Given the description of an element on the screen output the (x, y) to click on. 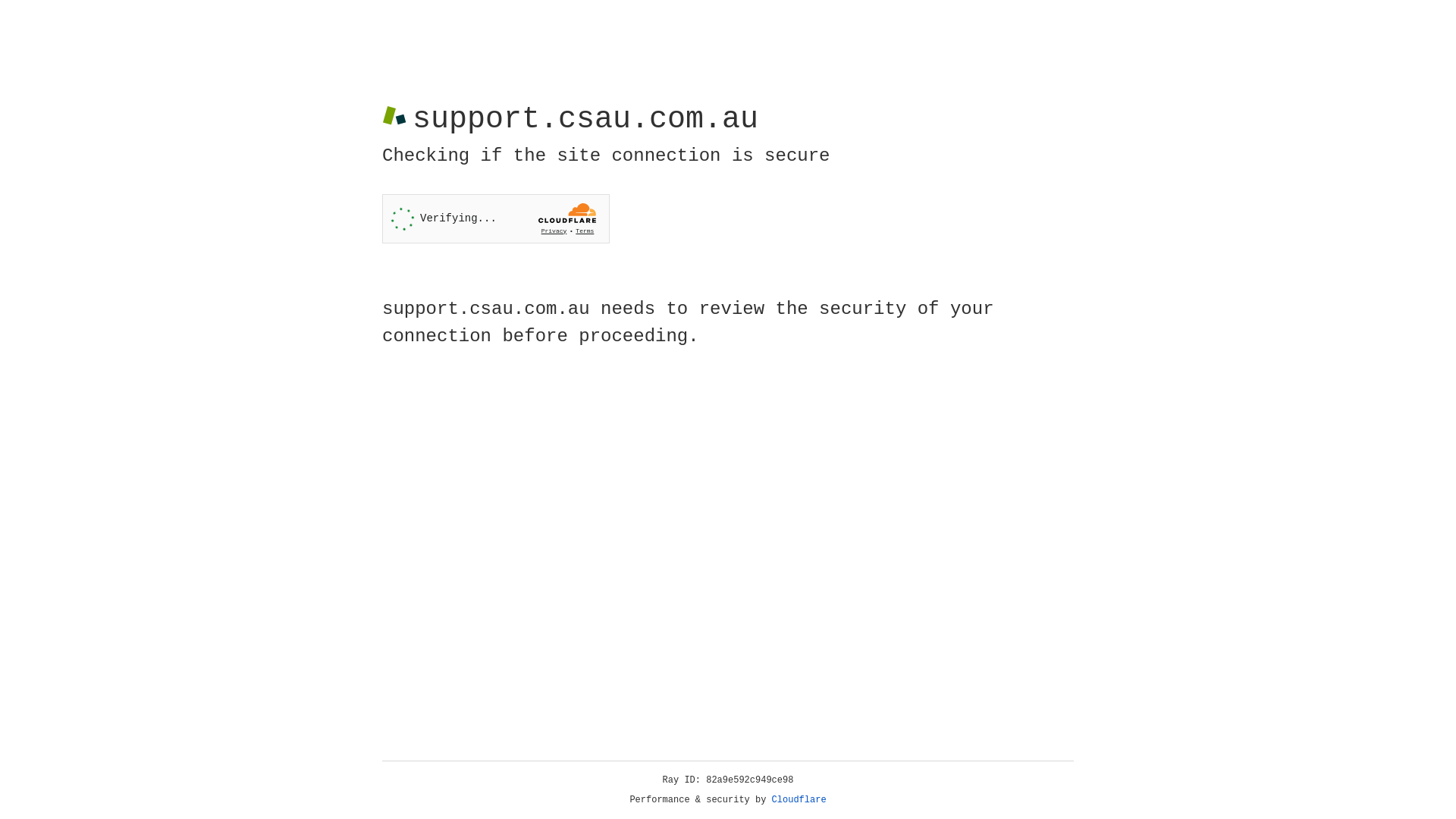
Cloudflare Element type: text (798, 799)
Widget containing a Cloudflare security challenge Element type: hover (495, 218)
